Given the description of an element on the screen output the (x, y) to click on. 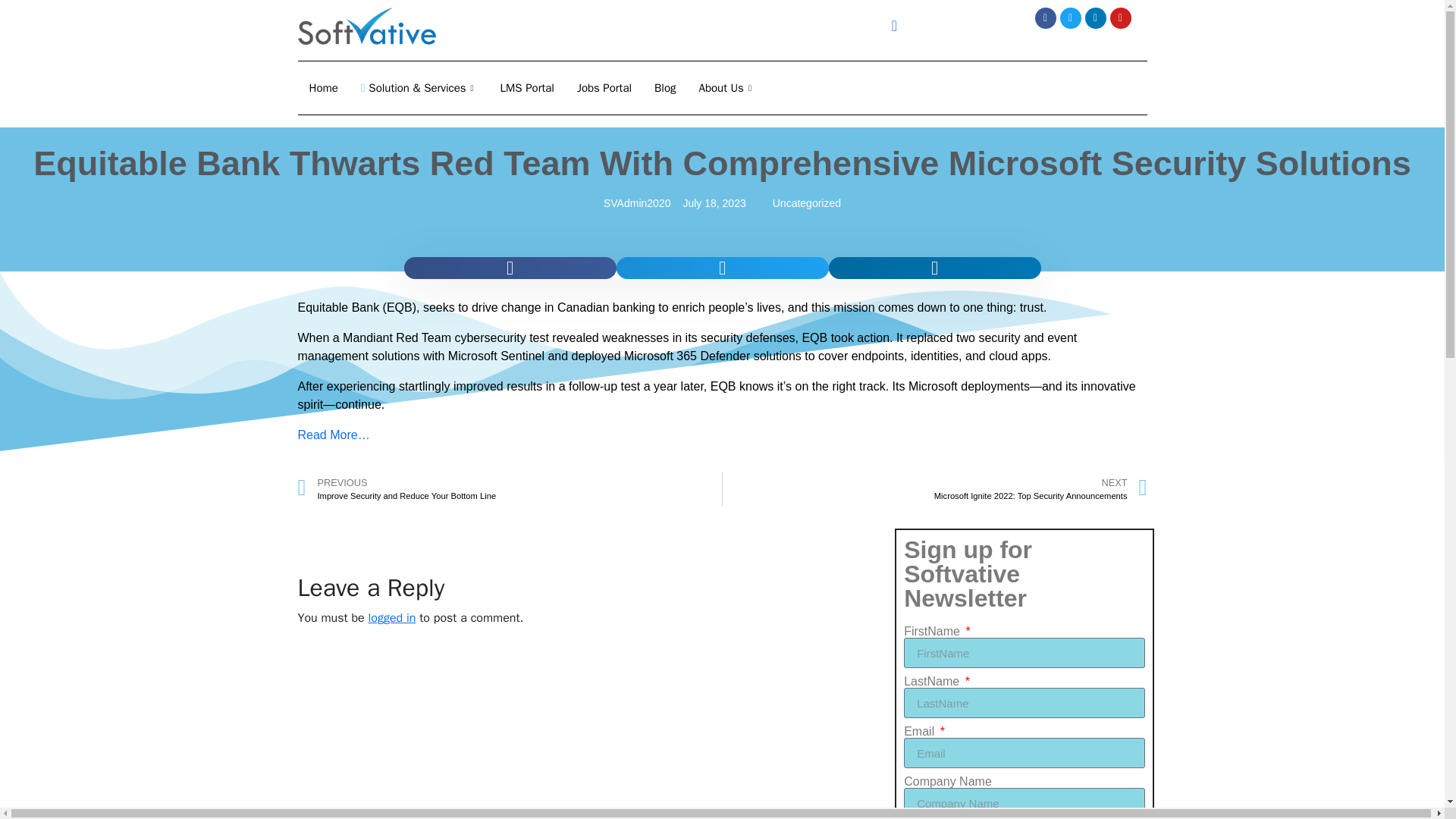
SVAdmin2020 (636, 203)
Home (323, 87)
Jobs Portal (604, 87)
About Us (727, 87)
Blog (665, 87)
LMS Portal (527, 87)
